Given the description of an element on the screen output the (x, y) to click on. 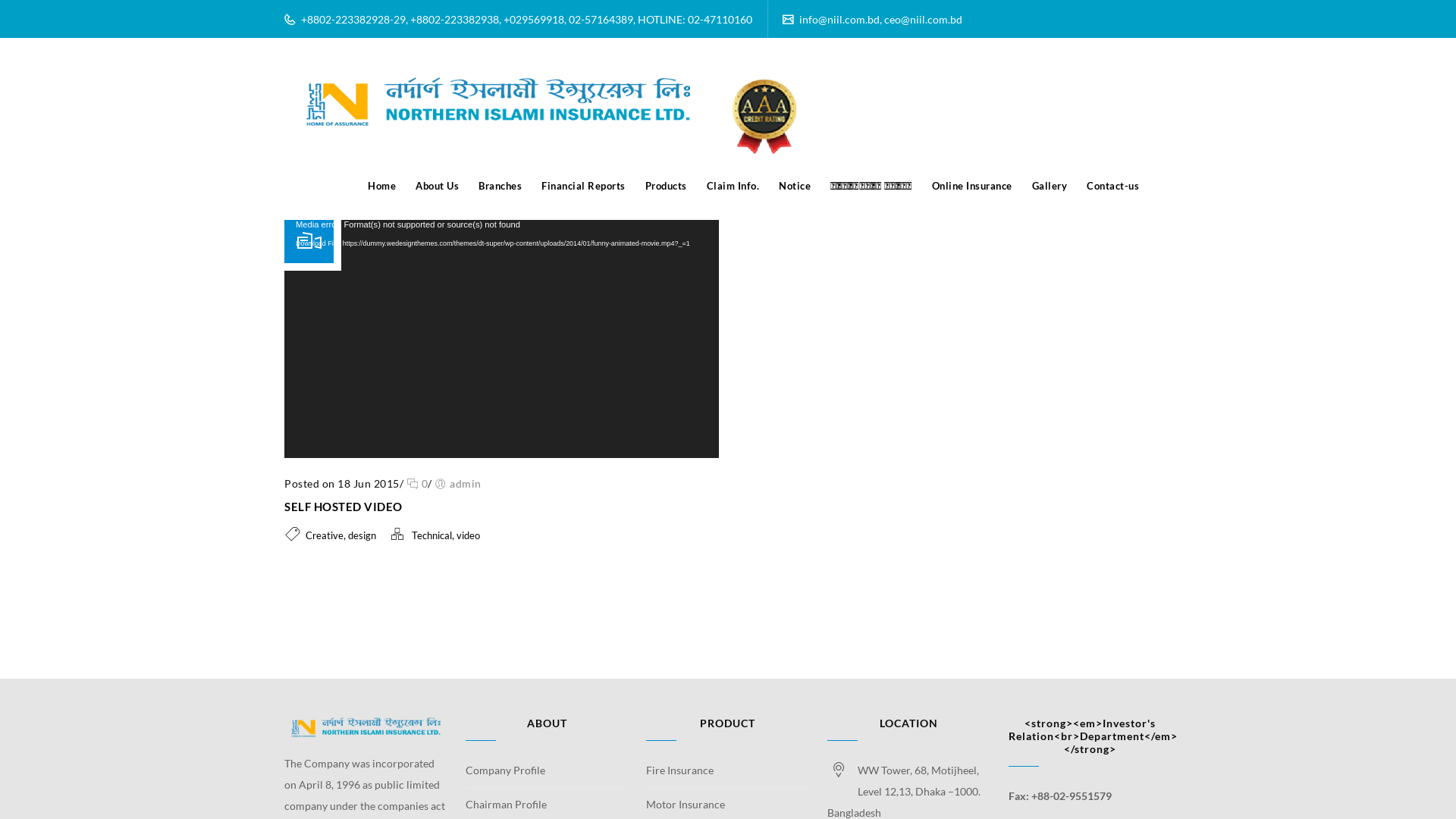
Northern Islami Insurance Ltd. Element type: hover (544, 117)
Company Profile Element type: text (546, 774)
0 Element type: text (417, 482)
Fire Insurance Element type: text (727, 774)
Notice Element type: text (794, 185)
admin Element type: text (465, 482)
Gallery Element type: text (1049, 185)
Technical Element type: text (431, 535)
video Element type: text (1159, 135)
SELF HOSTED VIDEO Element type: text (343, 506)
Online Insurance Element type: text (972, 185)
Branches Element type: text (499, 185)
Home Element type: text (381, 185)
info@niil.com.bd, ceo@niil.com.bd Element type: text (879, 18)
design Element type: text (362, 535)
Claim Info. Element type: text (732, 185)
Contact-us Element type: text (1112, 185)
Financial Reports Element type: text (583, 185)
Products Element type: text (665, 185)
About Us Element type: text (436, 185)
Creative Element type: text (324, 535)
video Element type: text (468, 535)
Northern Islami Insurance Ltd. Element type: hover (544, 117)
Home Element type: text (1124, 135)
